Given the description of an element on the screen output the (x, y) to click on. 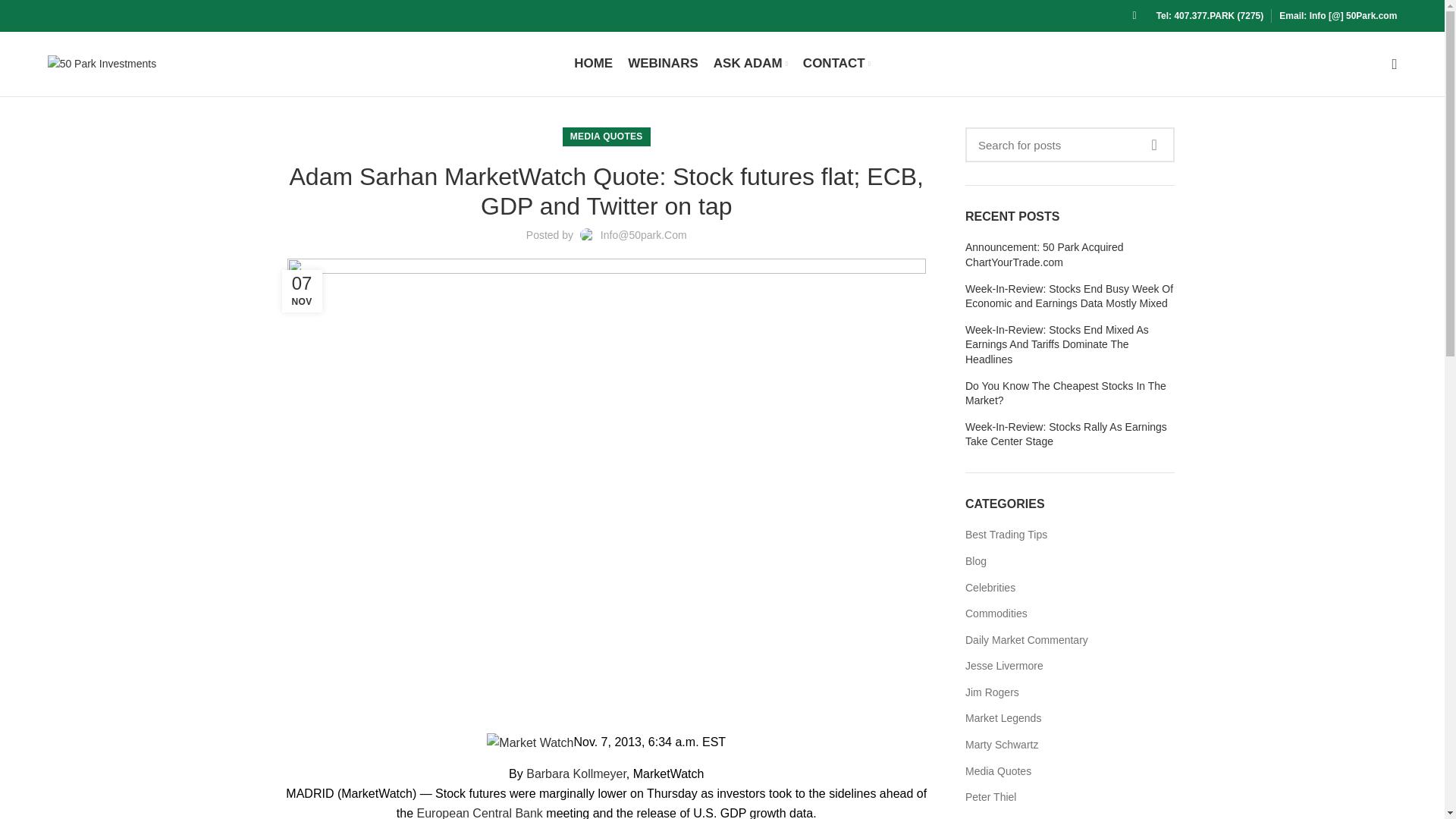
CONTACT (835, 63)
ASK ADAM (750, 63)
HOME (593, 63)
European Central Bank (479, 812)
MEDIA QUOTES (606, 136)
Search for posts (1069, 144)
WEBINARS (663, 63)
Barbara Kollmeyer (575, 773)
